Given the description of an element on the screen output the (x, y) to click on. 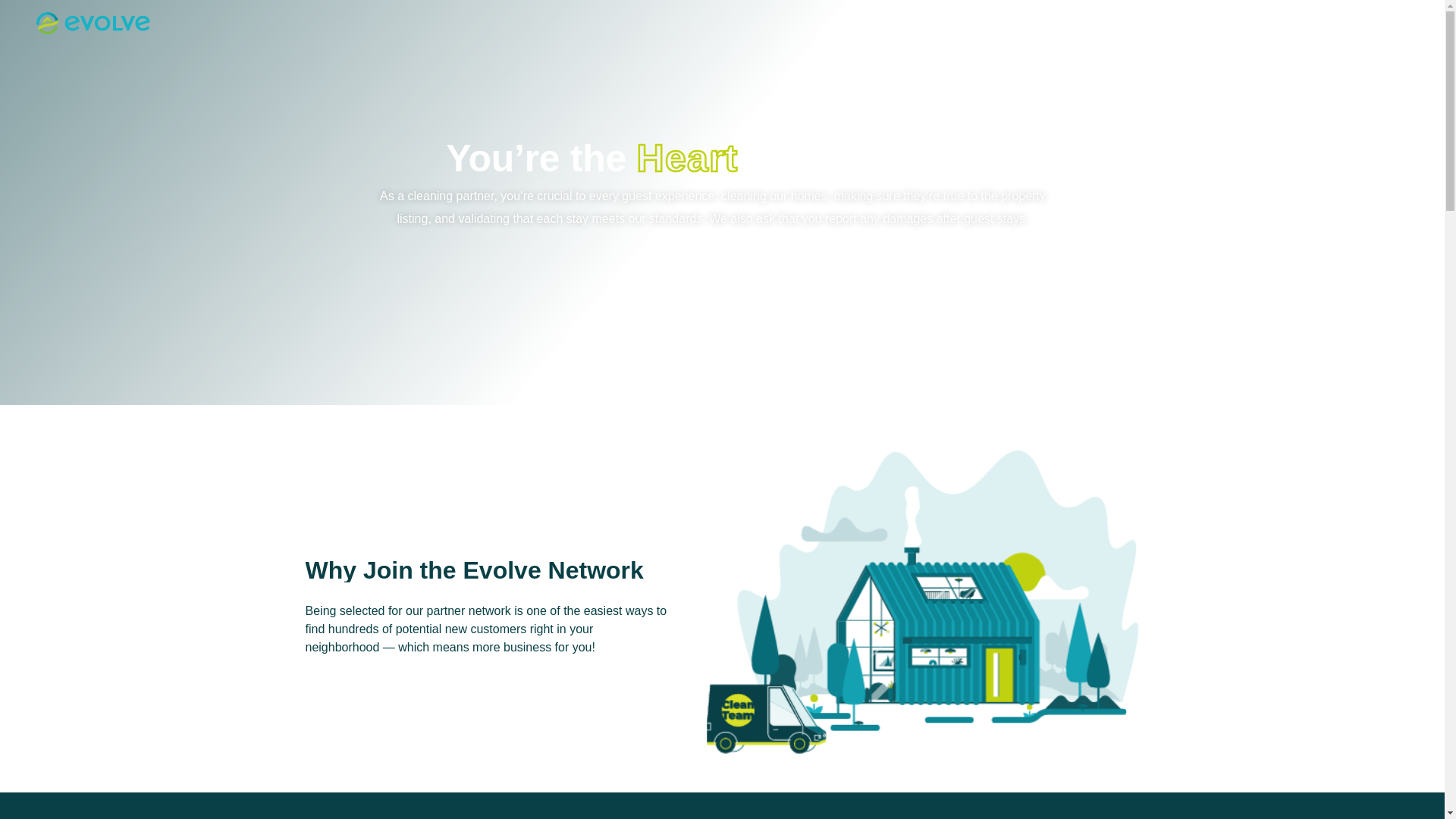
Help (1274, 24)
Favorites (1321, 24)
Become an Owner (1204, 24)
Login (1382, 24)
